Given the description of an element on the screen output the (x, y) to click on. 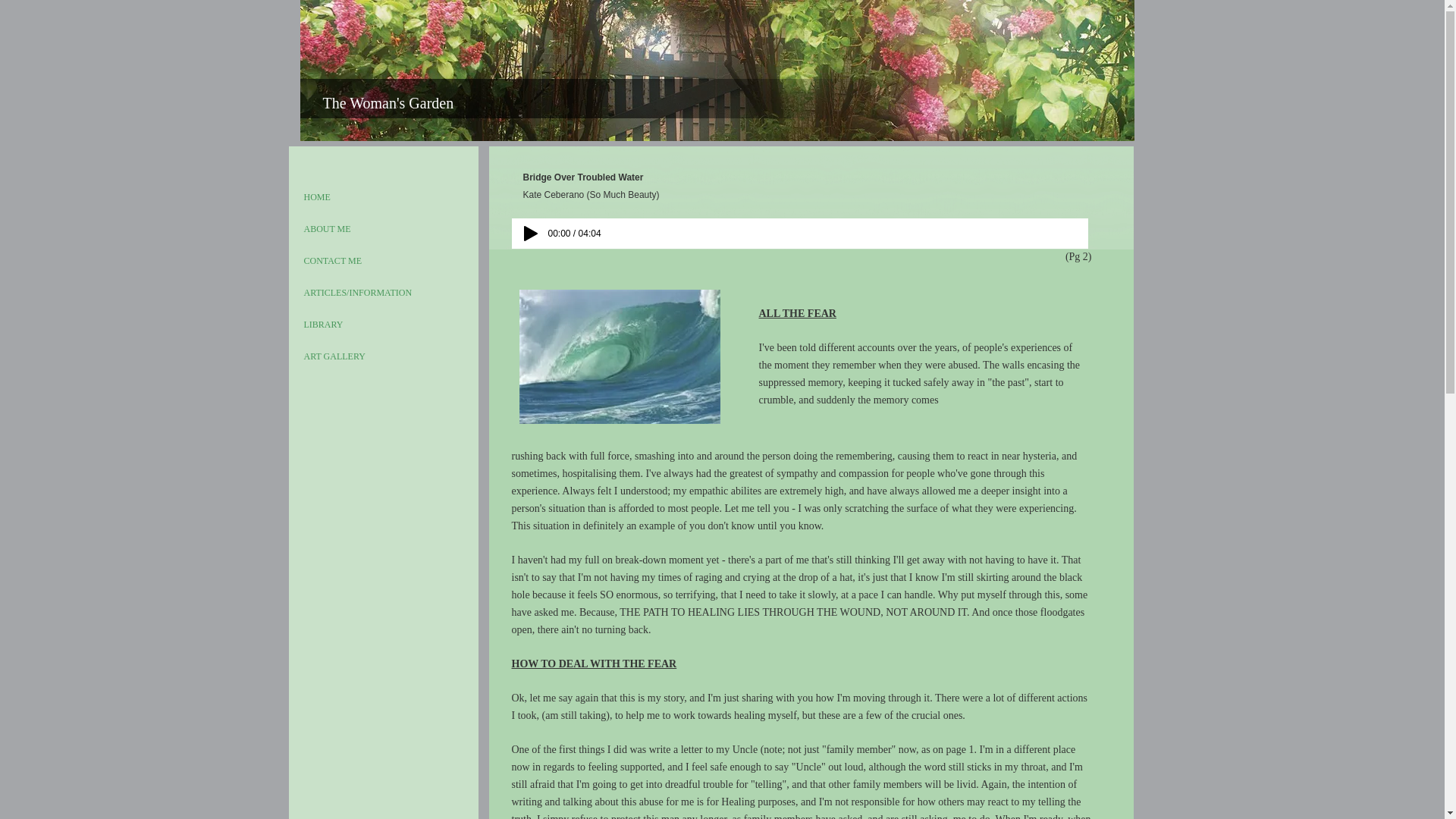
LIBRARY (322, 324)
HOME (316, 197)
CONTACT ME (332, 261)
ABOUT ME (326, 229)
ART GALLERY (333, 356)
